Given the description of an element on the screen output the (x, y) to click on. 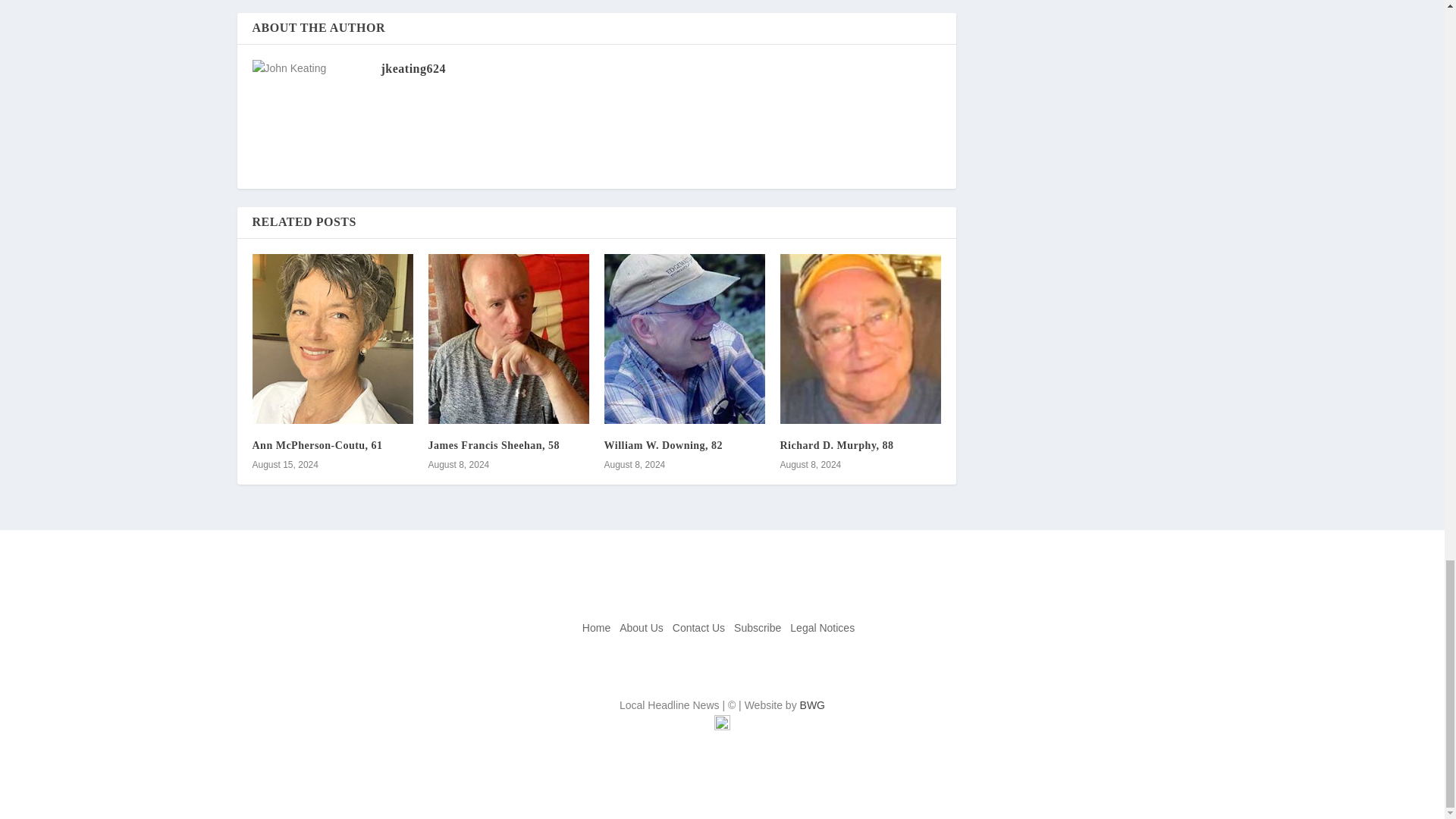
Richard D. Murphy, 88 (835, 445)
Ann McPherson-Coutu, 61 (316, 445)
William W. Downing, 82 (663, 445)
jkeating624 (412, 68)
James Francis Sheehan, 58 (493, 445)
